Given the description of an element on the screen output the (x, y) to click on. 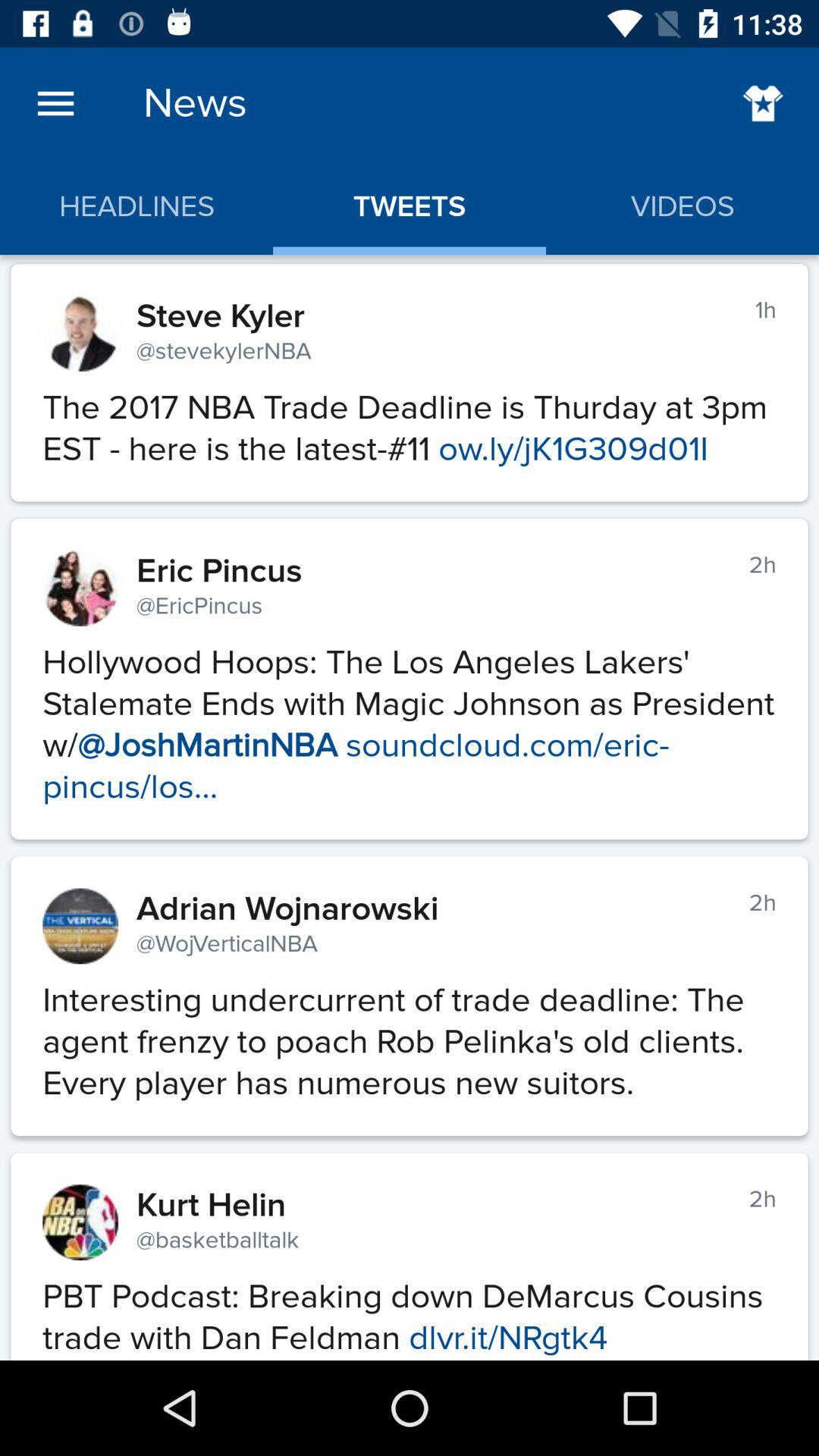
view favorites (763, 103)
